Given the description of an element on the screen output the (x, y) to click on. 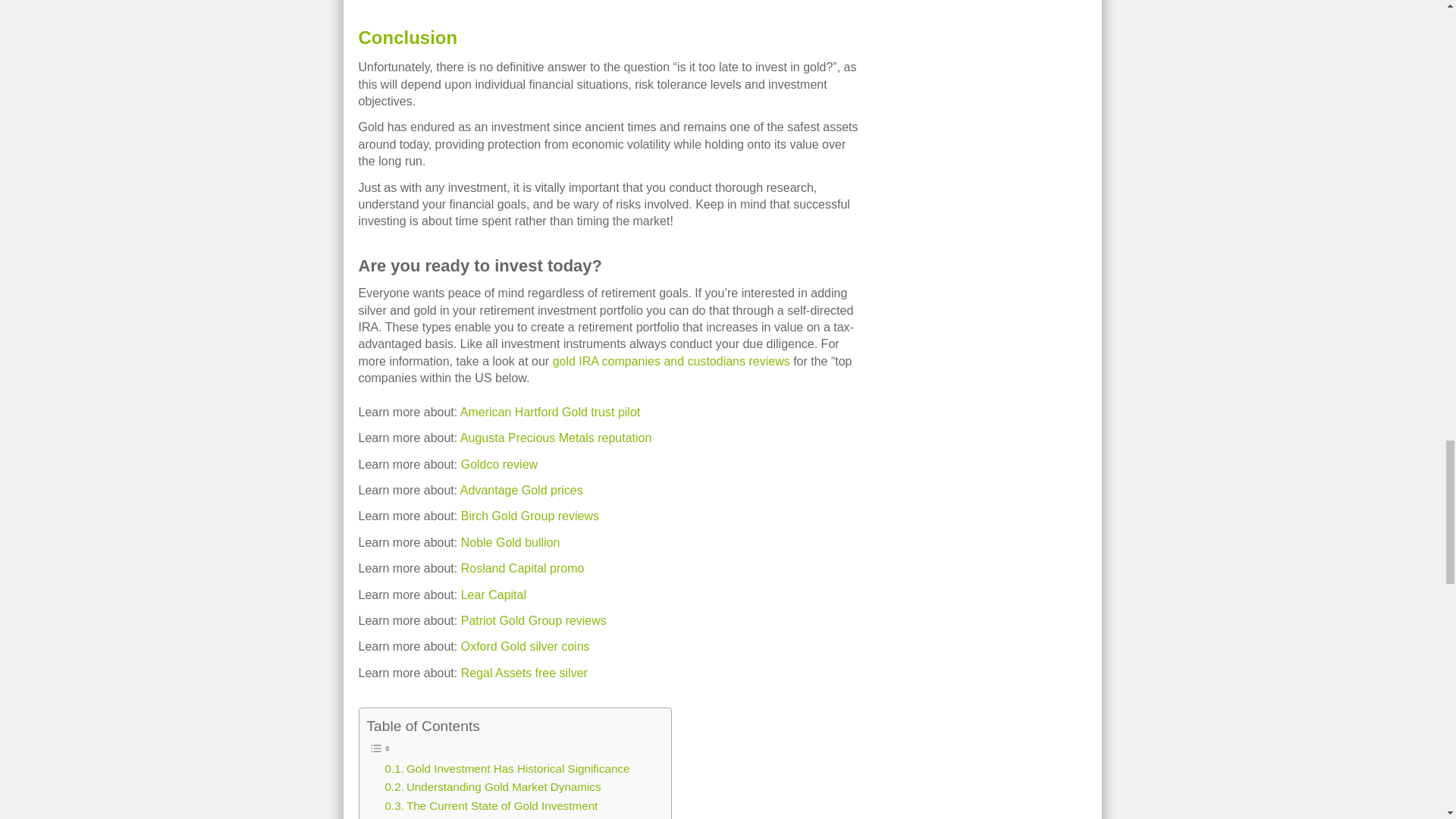
Patriot Gold Group reviews (534, 620)
Gold Investment Has Historical Significance (507, 769)
gold IRA companies and custodians reviews (671, 360)
Gold Investment Has Historical Significance (507, 769)
The Current State of Gold Investment (491, 805)
Noble Gold bullion (510, 542)
Oxford Gold silver coins (525, 645)
Understanding Gold Market Dynamics (493, 787)
Timing the Gold Market (455, 816)
Lear Capital (493, 594)
